Given the description of an element on the screen output the (x, y) to click on. 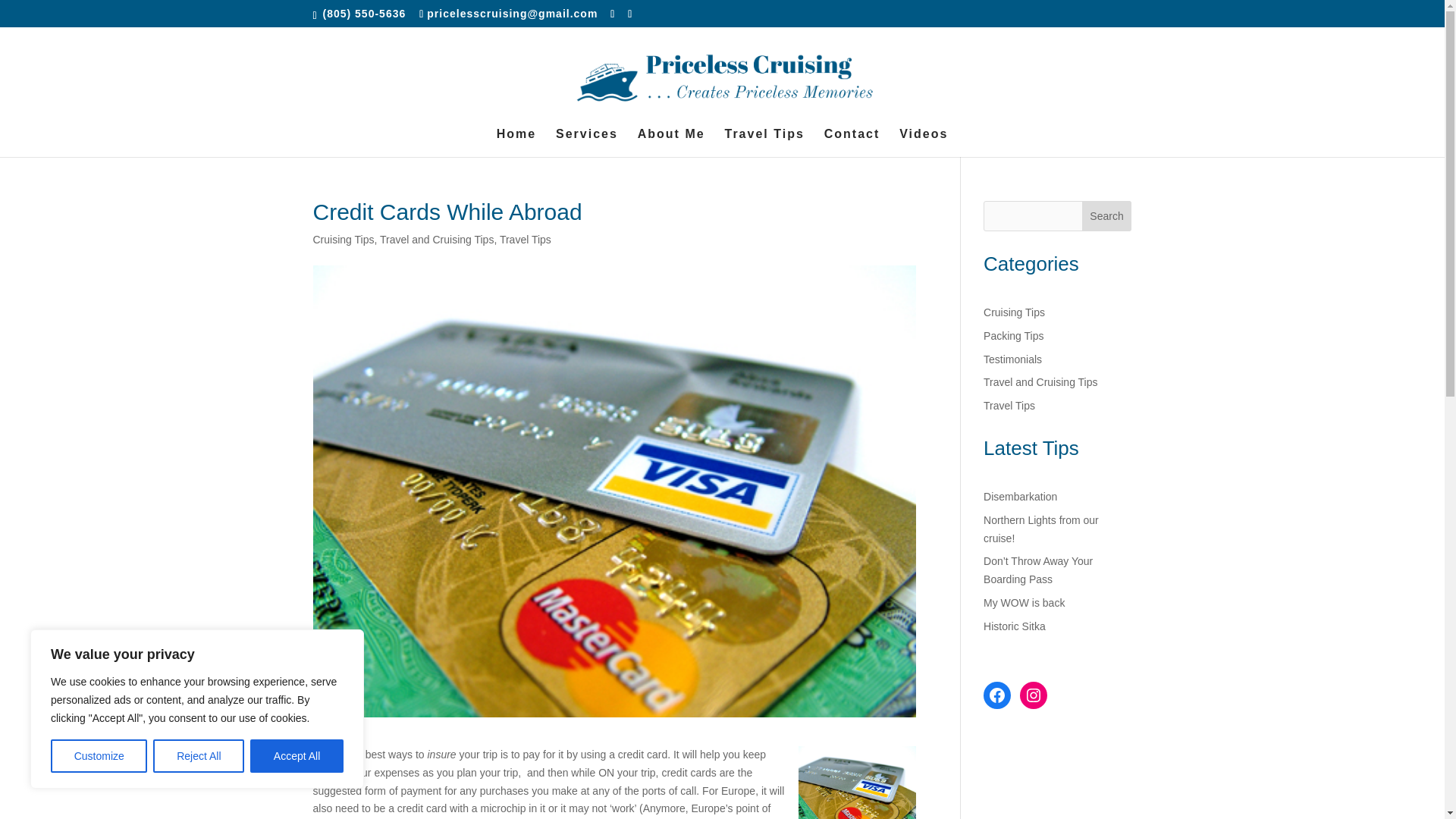
Travel Tips (525, 239)
Services (586, 142)
Travel and Cruising Tips (1040, 381)
Home (515, 142)
Reject All (198, 756)
Cruising Tips (1014, 312)
Packing Tips (1013, 336)
Testimonials (1013, 358)
Videos (923, 142)
Accept All (296, 756)
